Given the description of an element on the screen output the (x, y) to click on. 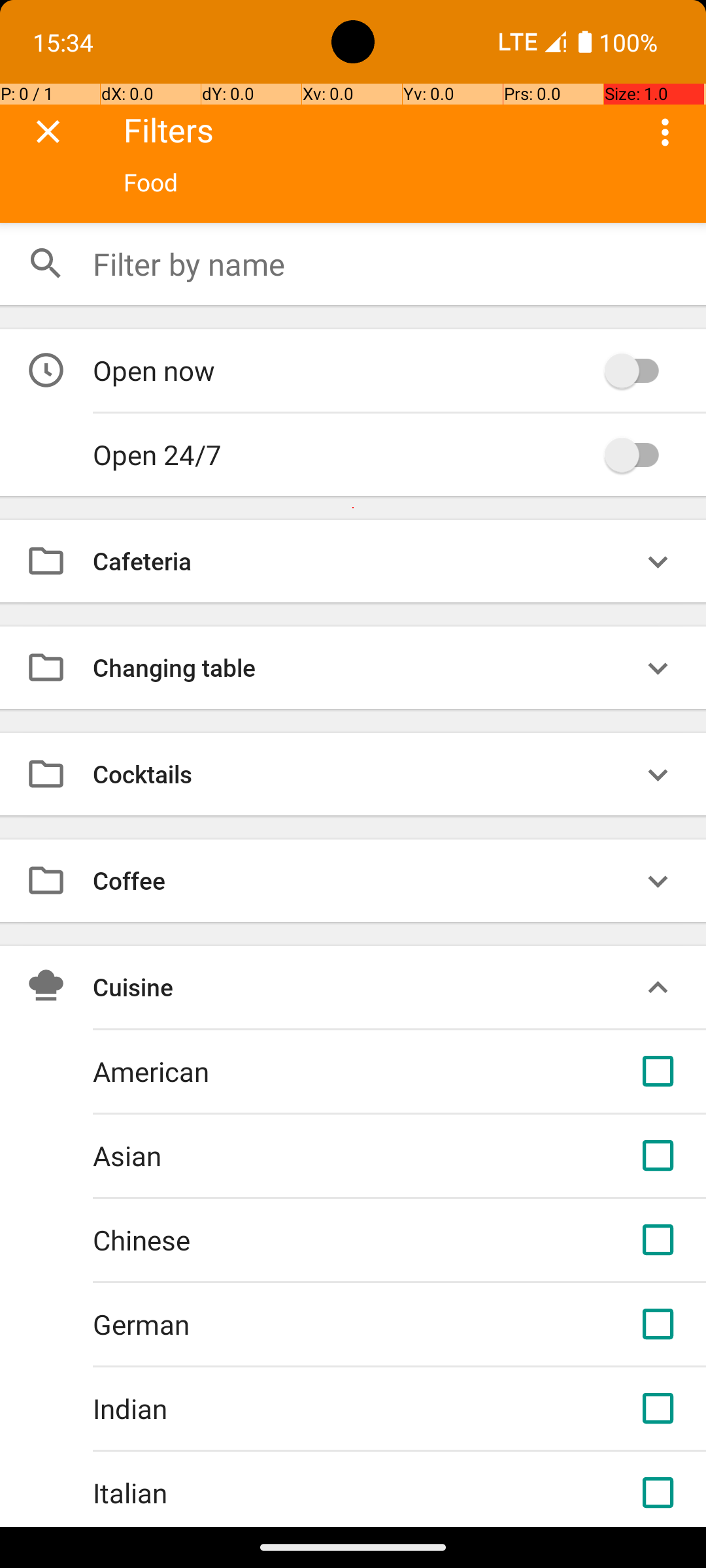
Filters Element type: android.widget.TextView (373, 129)
More actions Element type: android.widget.ImageButton (664, 131)
Filter by name Element type: android.widget.EditText (385, 263)
Open now Element type: android.widget.TextView (344, 369)
Open 24/7 Element type: android.widget.TextView (344, 454)
Cafeteria Element type: android.widget.TextView (364, 560)
Changing table Element type: android.widget.TextView (364, 667)
Cocktails Element type: android.widget.TextView (364, 773)
Coffee Element type: android.widget.TextView (364, 880)
Cuisine Element type: android.widget.TextView (364, 986)
American Element type: android.widget.TextView (364, 1070)
Asian Element type: android.widget.TextView (364, 1155)
Chinese Element type: android.widget.TextView (364, 1239)
German Element type: android.widget.TextView (364, 1323)
Indian Element type: android.widget.TextView (364, 1407)
Italian Element type: android.widget.TextView (364, 1492)
